Given the description of an element on the screen output the (x, y) to click on. 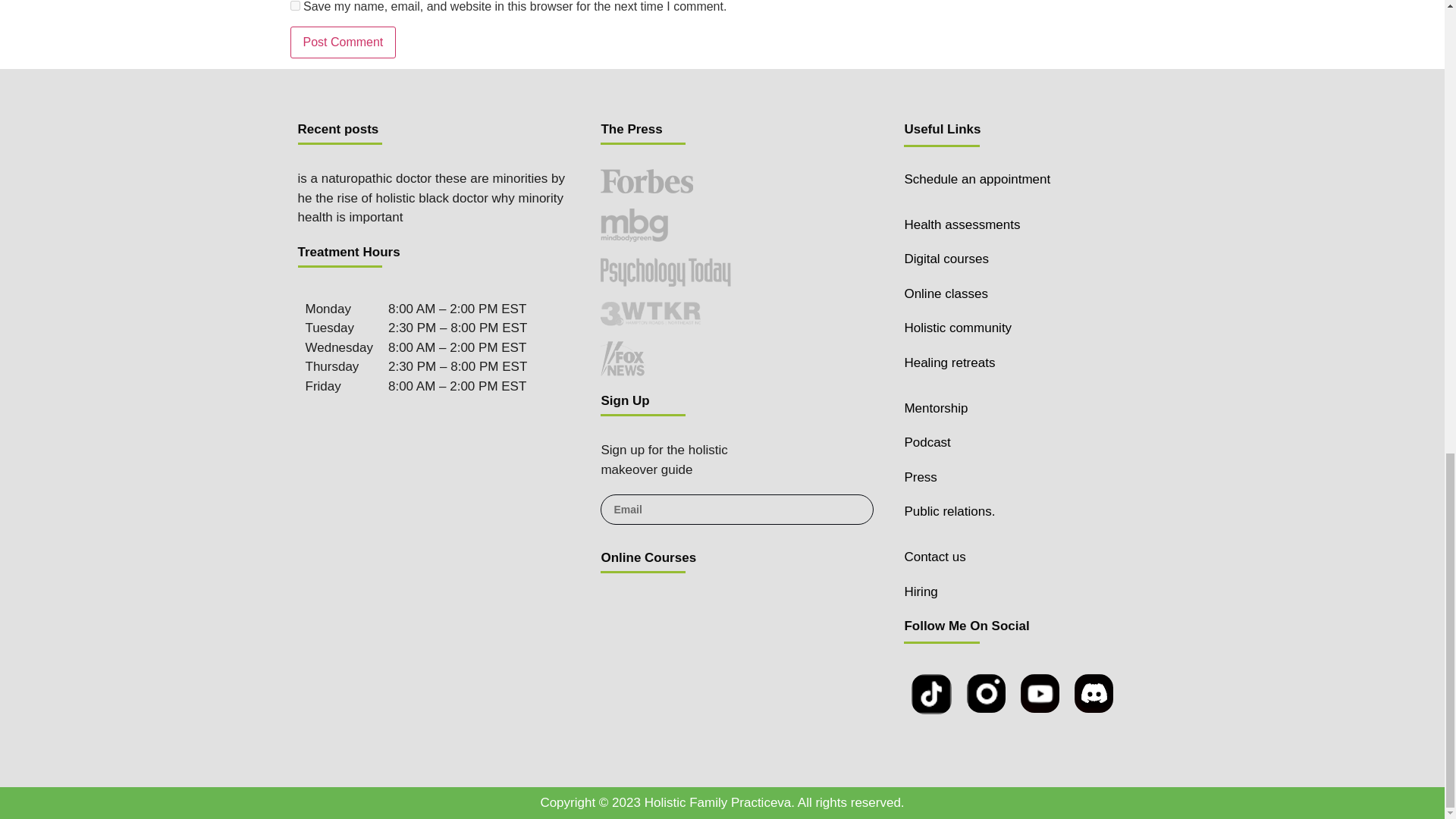
Public relations. (949, 511)
Schedule an appointment (976, 178)
Online classes (946, 293)
Holistic community (957, 327)
yes (294, 5)
Contact us (934, 556)
Press (920, 477)
Podcast (927, 441)
Digital courses (946, 258)
Online Courses (647, 557)
Health assessments (962, 224)
Post Comment (342, 42)
Healing retreats (949, 362)
Post Comment (342, 42)
Mentorship (936, 408)
